Given the description of an element on the screen output the (x, y) to click on. 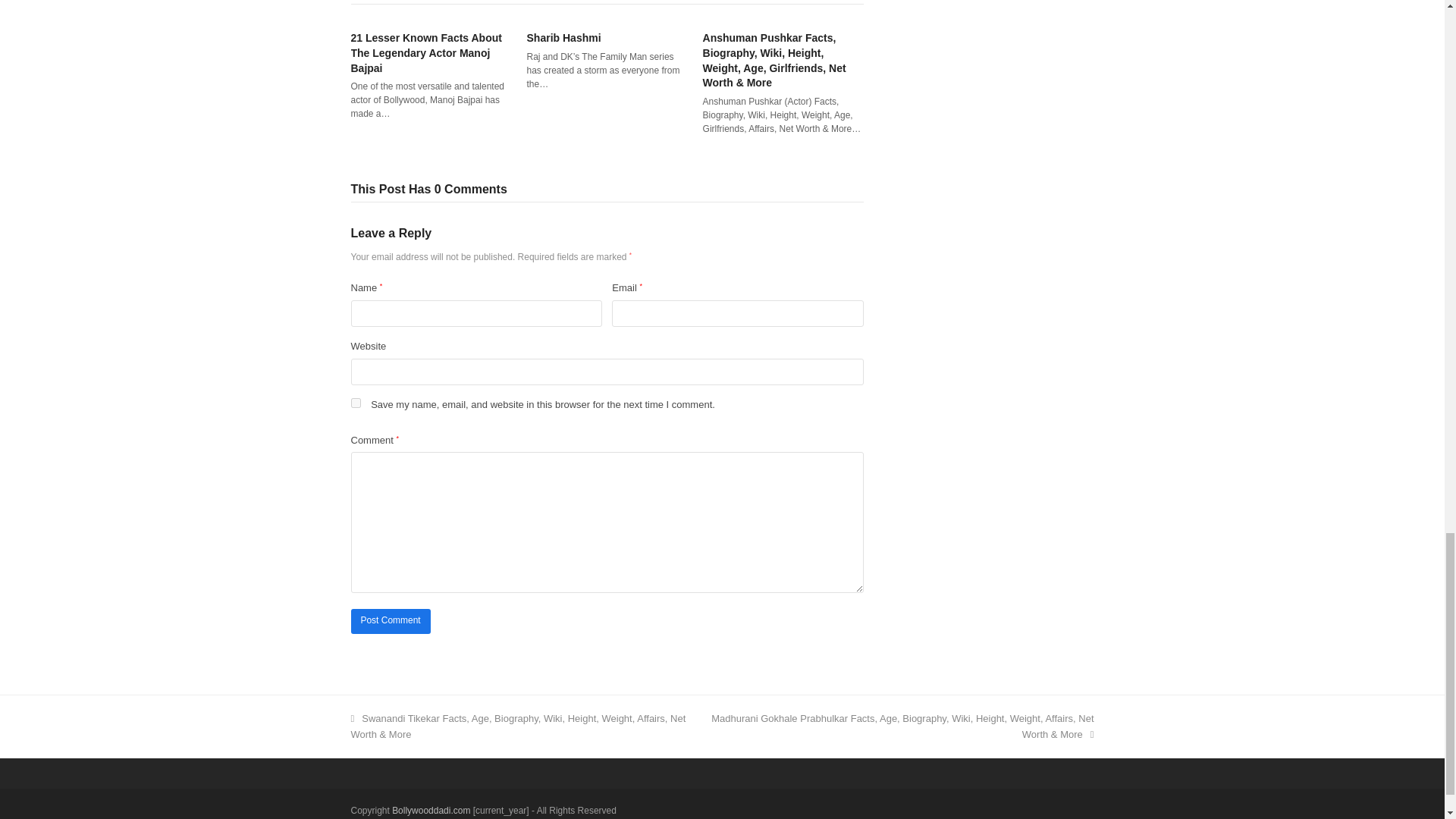
Post Comment (389, 621)
21 Lesser Known Facts About The Legendary Actor Manoj Bajpai (425, 52)
Sharib Hashmi (564, 37)
Post Comment (389, 621)
Bollywooddadi.com (430, 810)
yes (354, 402)
